Given the description of an element on the screen output the (x, y) to click on. 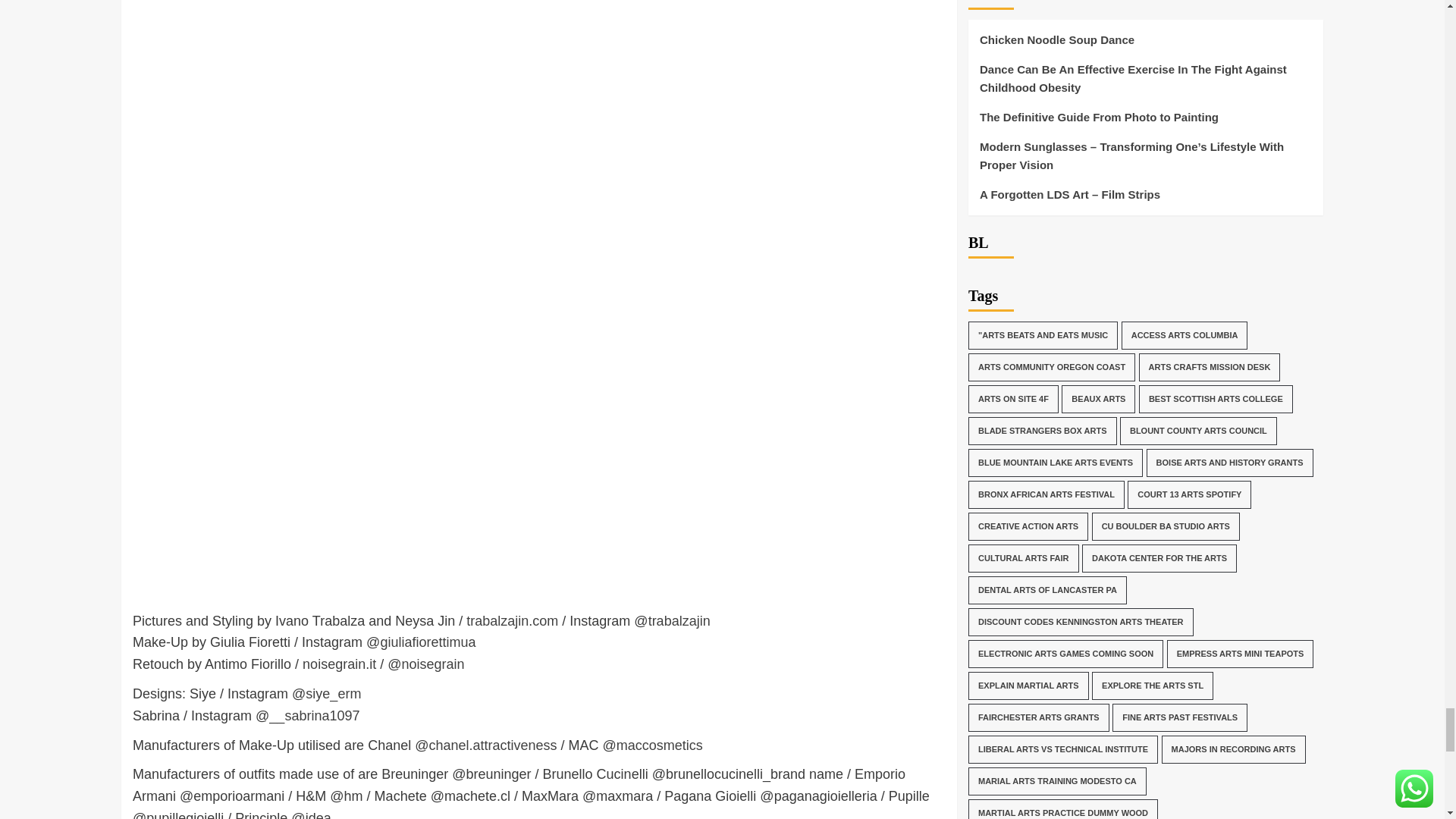
maccosmetics (659, 744)
noisegrain (432, 663)
noisegrain.it (338, 663)
chanel.attractiveness (492, 744)
trabalzajin (678, 620)
trabalzajin.com (511, 620)
giuliafiorettimua (428, 642)
